Given the description of an element on the screen output the (x, y) to click on. 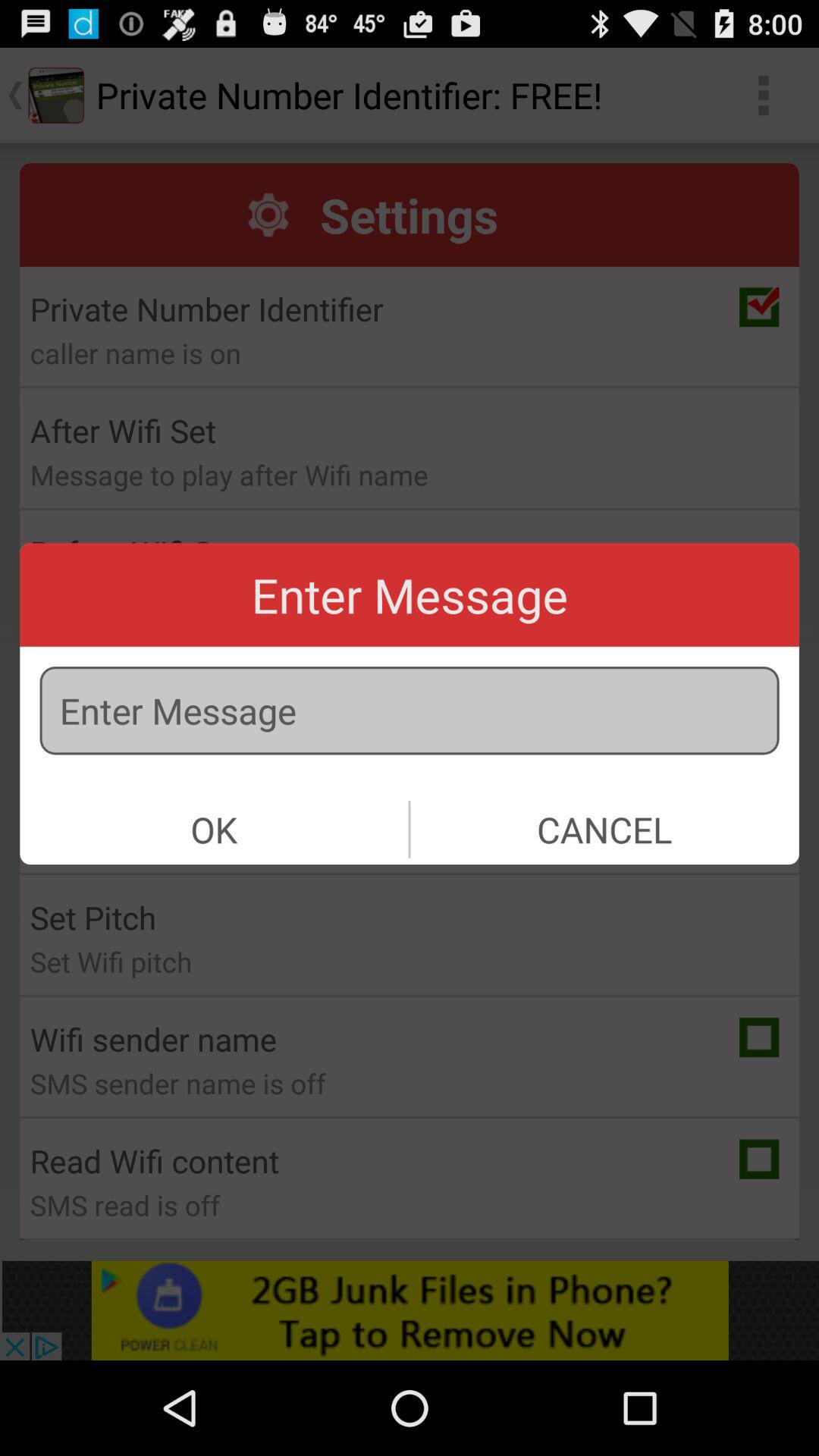
open icon on the right (604, 829)
